Given the description of an element on the screen output the (x, y) to click on. 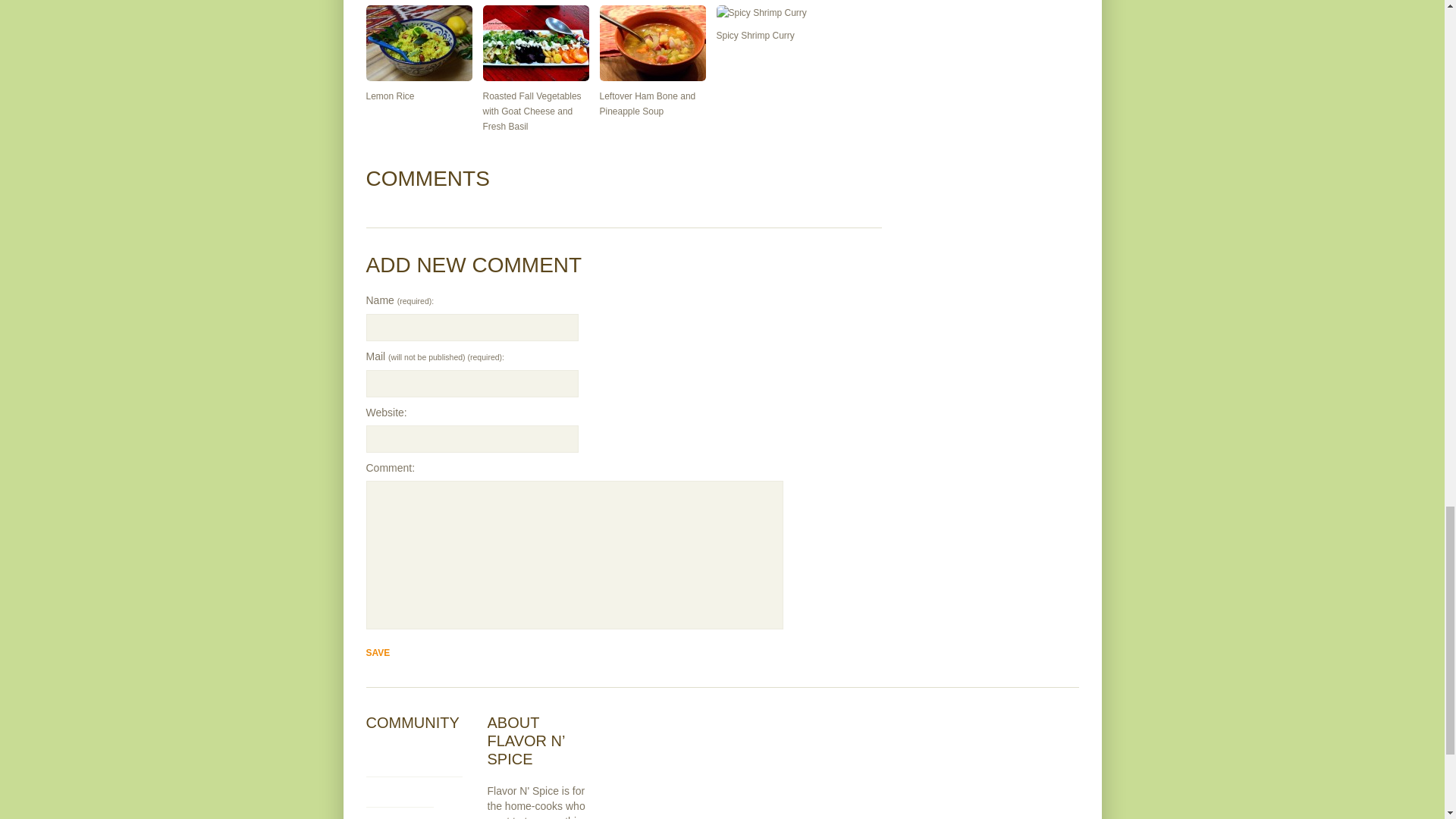
Save (377, 652)
Leftover Ham Bone and Pineapple Soup (646, 103)
Save (377, 652)
facebook (398, 789)
twitter (413, 759)
Roasted Fall Vegetables with Goat Cheese and Fresh Basil (534, 42)
Roasted Fall Vegetables with Goat Cheese and Fresh Basil (530, 110)
feed (413, 813)
Spicy Shrimp Curry (769, 12)
Spicy Shrimp Curry (754, 35)
Lemon Rice (418, 42)
Leftover Ham Bone and Pineapple Soup (651, 42)
Lemon Rice (389, 95)
